Given the description of an element on the screen output the (x, y) to click on. 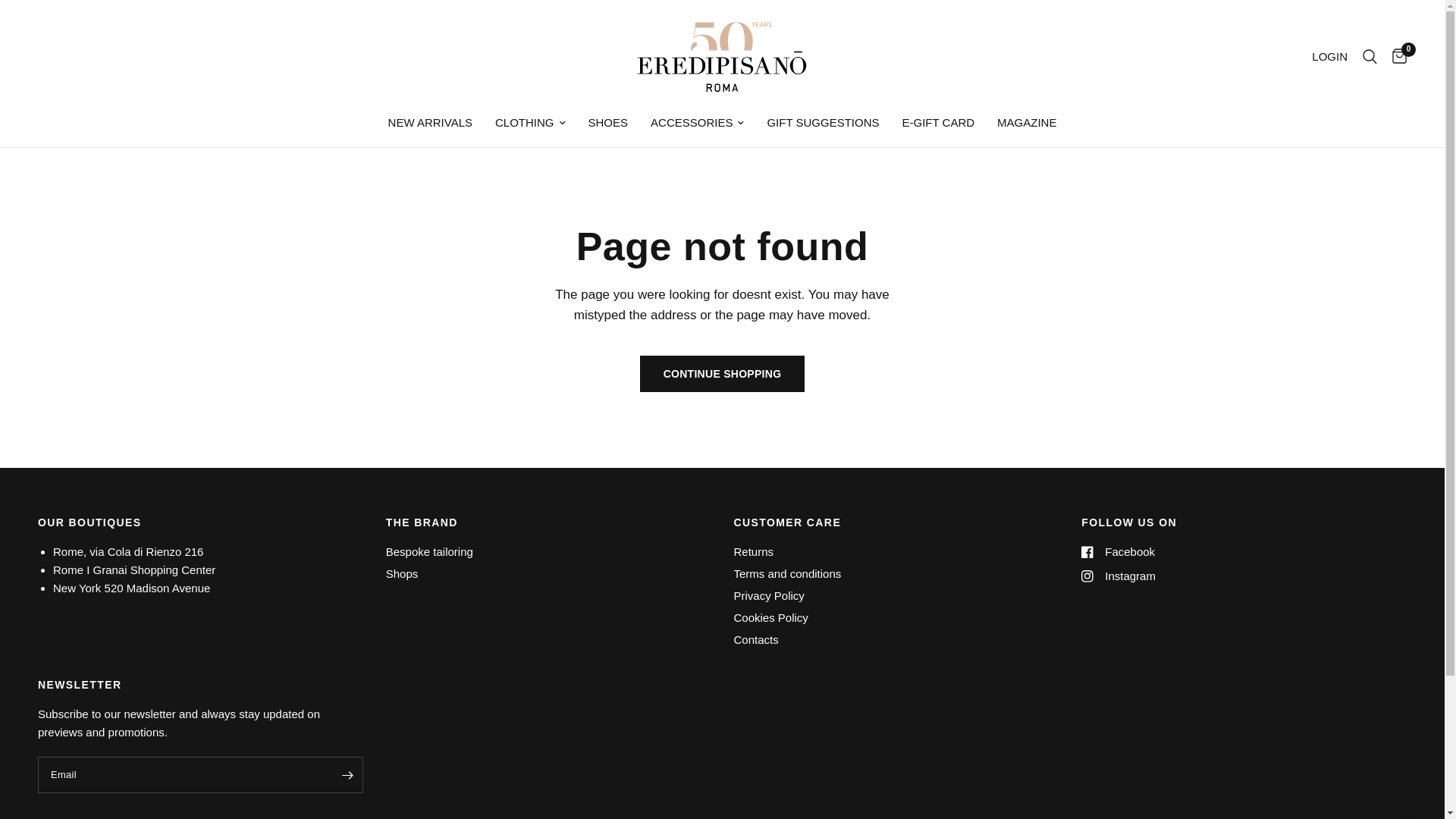
New arrivals (429, 122)
NEW ARRIVALS (429, 122)
CLOTHING (530, 122)
